Given the description of an element on the screen output the (x, y) to click on. 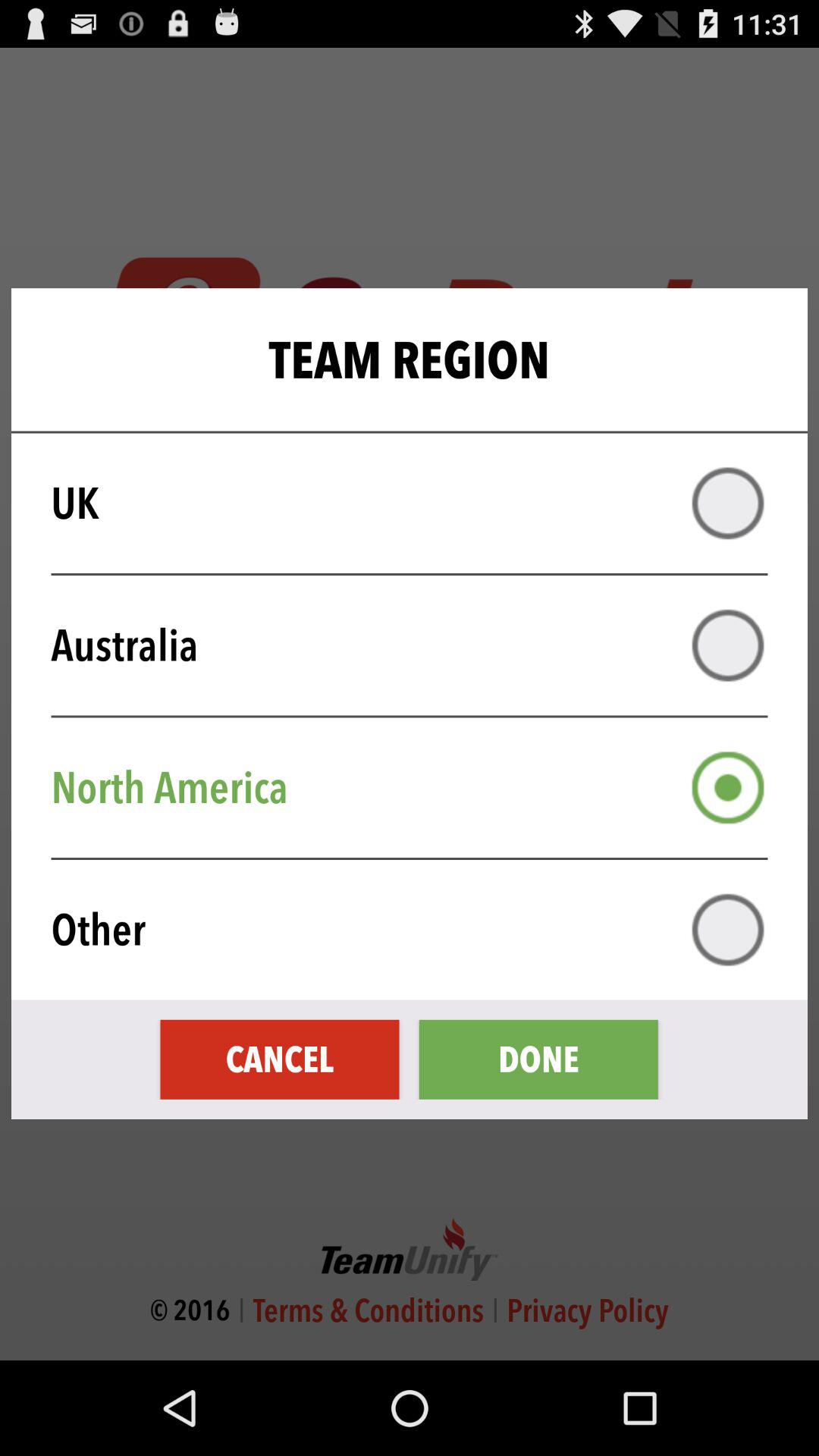
press icon below the other item (279, 1059)
